Given the description of an element on the screen output the (x, y) to click on. 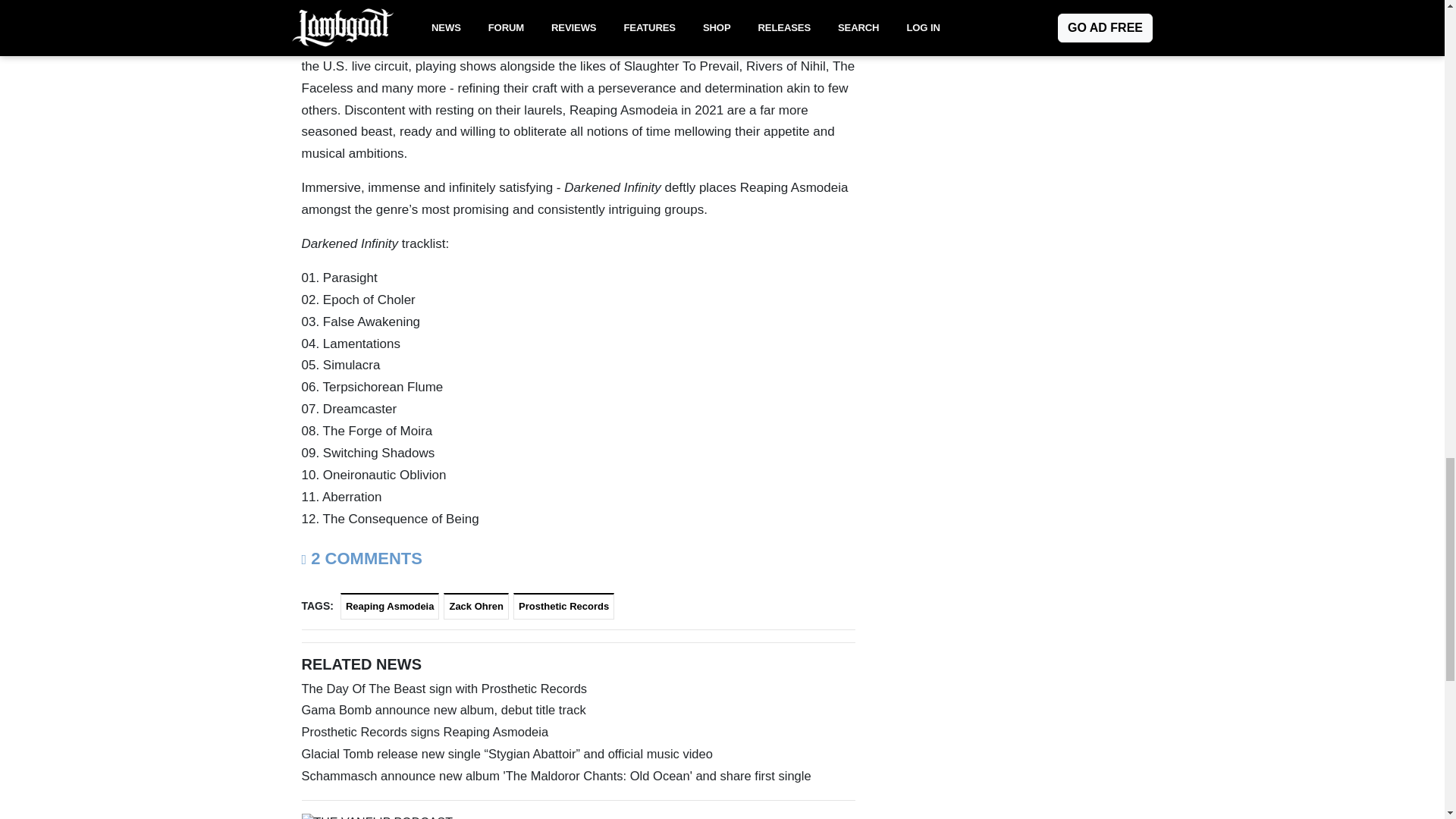
Prosthetic Records signs Reaping Asmodeia (578, 732)
Gama Bomb announce new album, debut title track (578, 710)
Reaping Asmodeia (389, 605)
Zack Ohren (476, 605)
The Day Of The Beast sign with Prosthetic Records (578, 688)
2 COMMENTS (361, 558)
Prosthetic Records (563, 605)
